Given the description of an element on the screen output the (x, y) to click on. 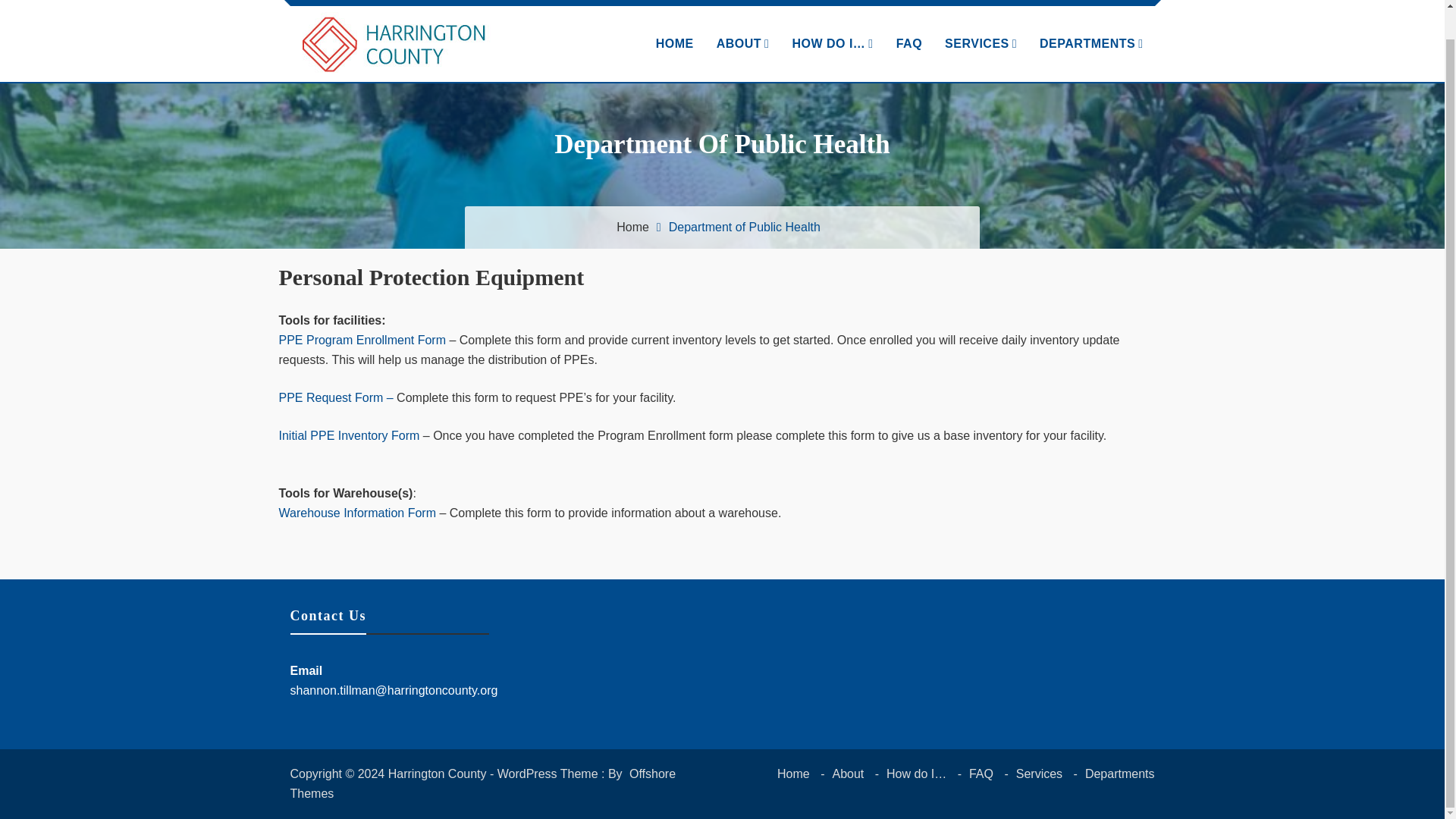
Home (632, 226)
PPE Program Enrollment Form (362, 339)
Initial PPE Inventory Form (349, 435)
About (847, 773)
Harrington County (390, 95)
Offshore Themes (482, 783)
Home (793, 773)
Warehouse Information Form (357, 512)
DEPARTMENTS (1090, 43)
SERVICES (980, 43)
ABOUT (742, 43)
